Given the description of an element on the screen output the (x, y) to click on. 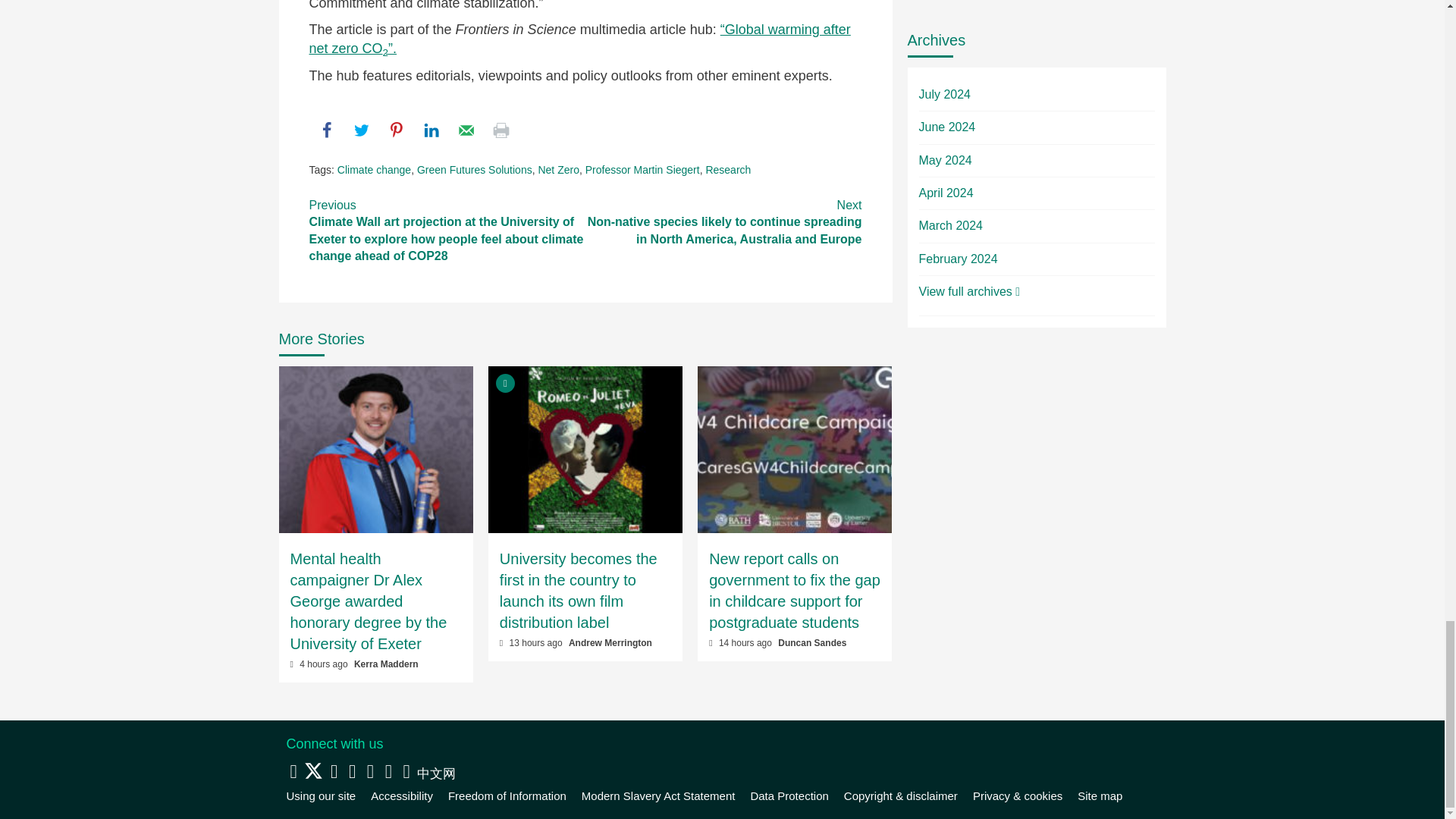
Send over email (465, 130)
Share on LinkedIn (430, 130)
Print this webpage (500, 130)
Save to Pinterest (395, 130)
Share on Facebook (325, 130)
Share on Twitter (360, 130)
